Given the description of an element on the screen output the (x, y) to click on. 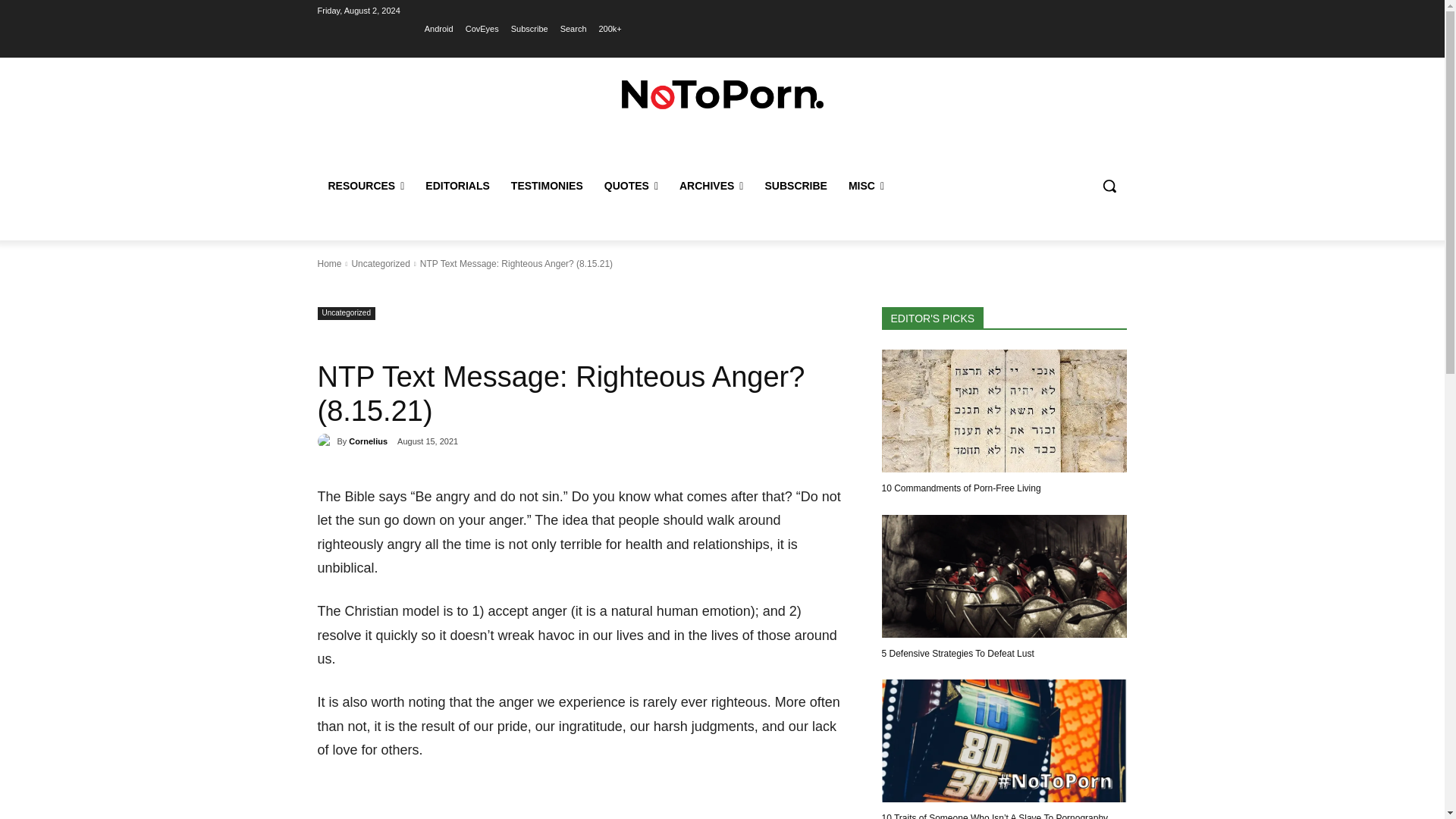
View all posts in Uncategorized (379, 263)
Search (573, 28)
Cornelius (326, 441)
RESOURCES (365, 185)
CovEyes (482, 28)
QUOTES (631, 185)
TESTIMONIES (547, 185)
Android (438, 28)
EDITORIALS (457, 185)
Subscribe (529, 28)
